Given the description of an element on the screen output the (x, y) to click on. 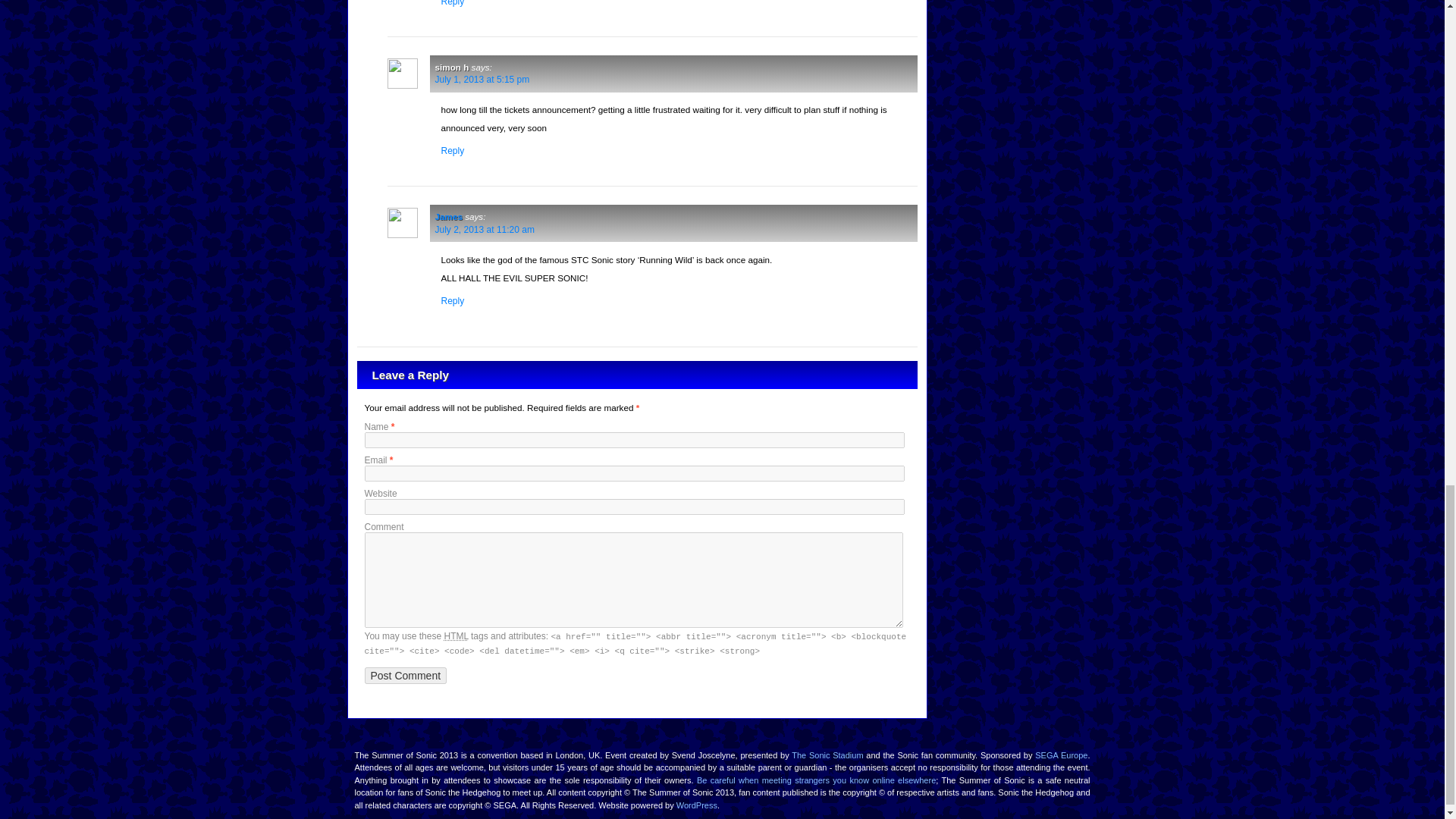
HyperText Markup Language (455, 635)
Be careful when meeting strangers you know online elsewhere (816, 779)
SEGA Europe (1061, 755)
James (449, 216)
Post Comment (405, 675)
Reply (452, 3)
Reply (452, 150)
July 1, 2013 at 5:15 pm (482, 79)
July 2, 2013 at 11:20 am (484, 229)
WordPress (697, 804)
